Given the description of an element on the screen output the (x, y) to click on. 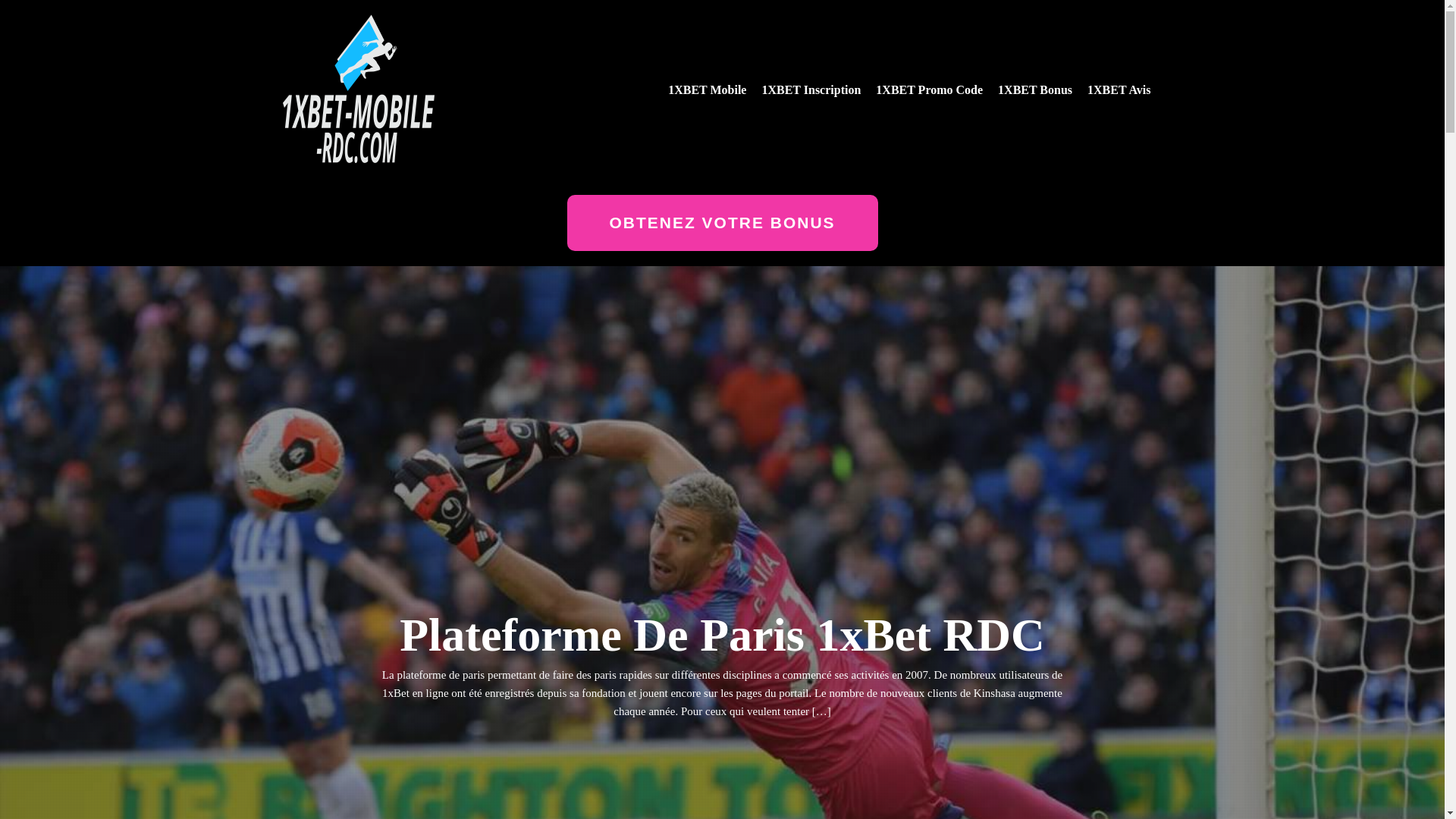
1XBET Inscription Element type: text (810, 90)
Plateforme De Paris 1xBet RDC Element type: text (721, 633)
1XBET Avis Element type: text (1118, 90)
OBTENEZ VOTRE BONUS Element type: text (722, 222)
1xbet-mobile-rdc.com Element type: text (329, 173)
1XBET Promo Code Element type: text (929, 90)
1XBET Mobile Element type: text (706, 90)
1XBET Bonus Element type: text (1035, 90)
